Given the description of an element on the screen output the (x, y) to click on. 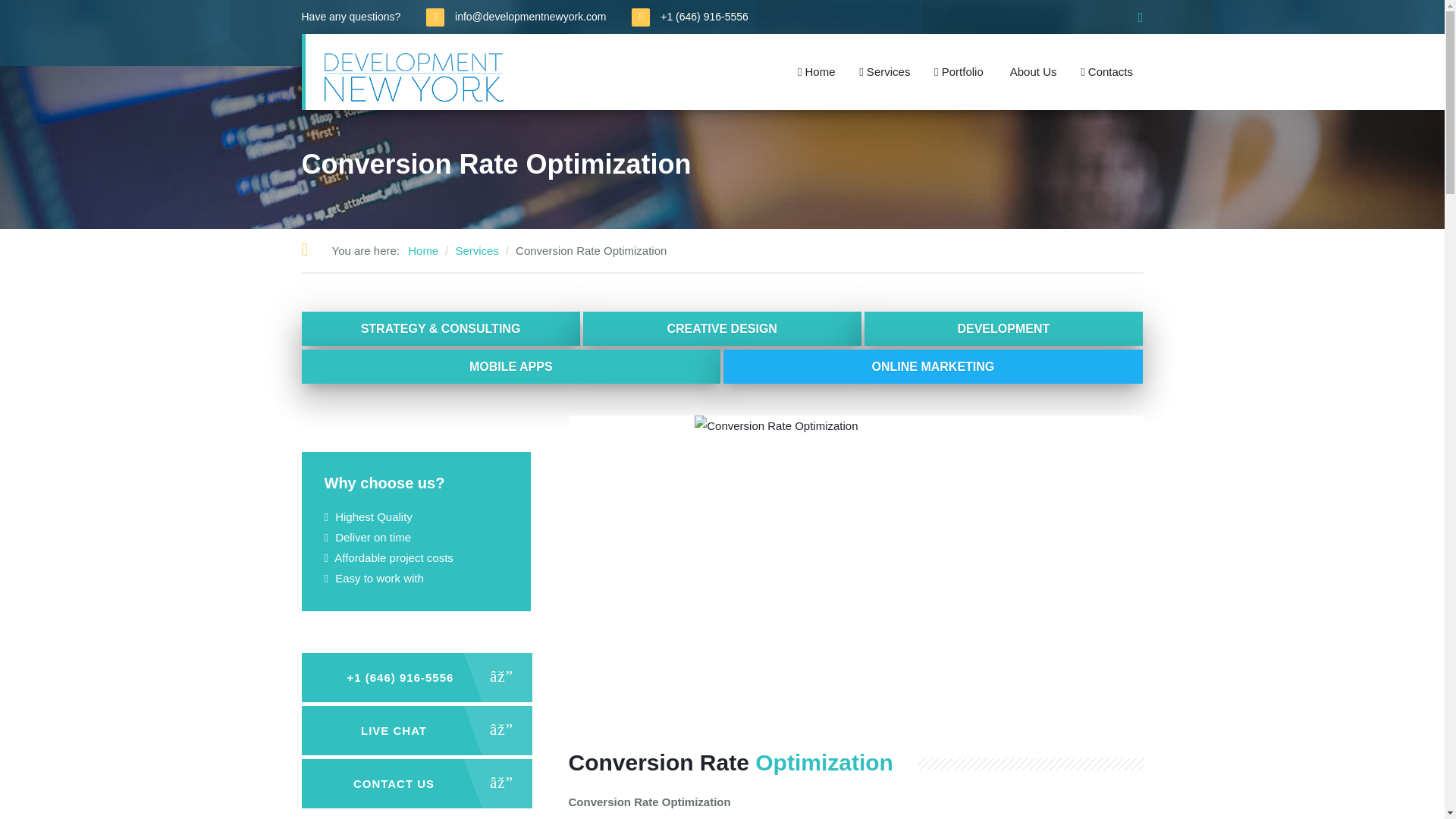
Contacts (1106, 71)
Development New York Inc. Email (504, 16)
Development New York Inc. (413, 77)
Portfolio (957, 71)
Services (884, 71)
Home (422, 250)
Development New York Inc. Phone Number (704, 16)
About Us (1031, 71)
Development New York Inc. Services (884, 71)
